Given the description of an element on the screen output the (x, y) to click on. 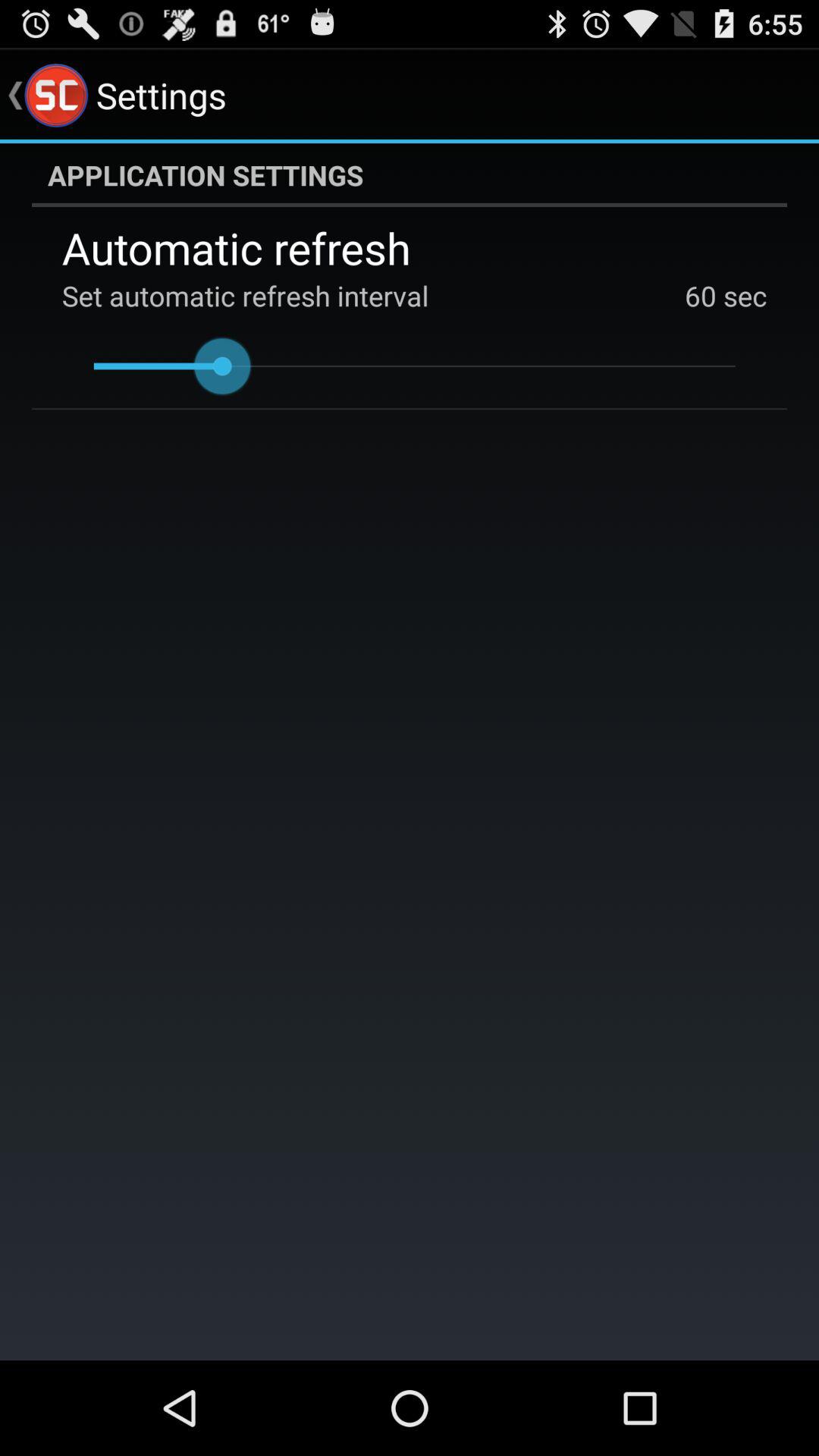
turn on the 60 app (700, 295)
